Given the description of an element on the screen output the (x, y) to click on. 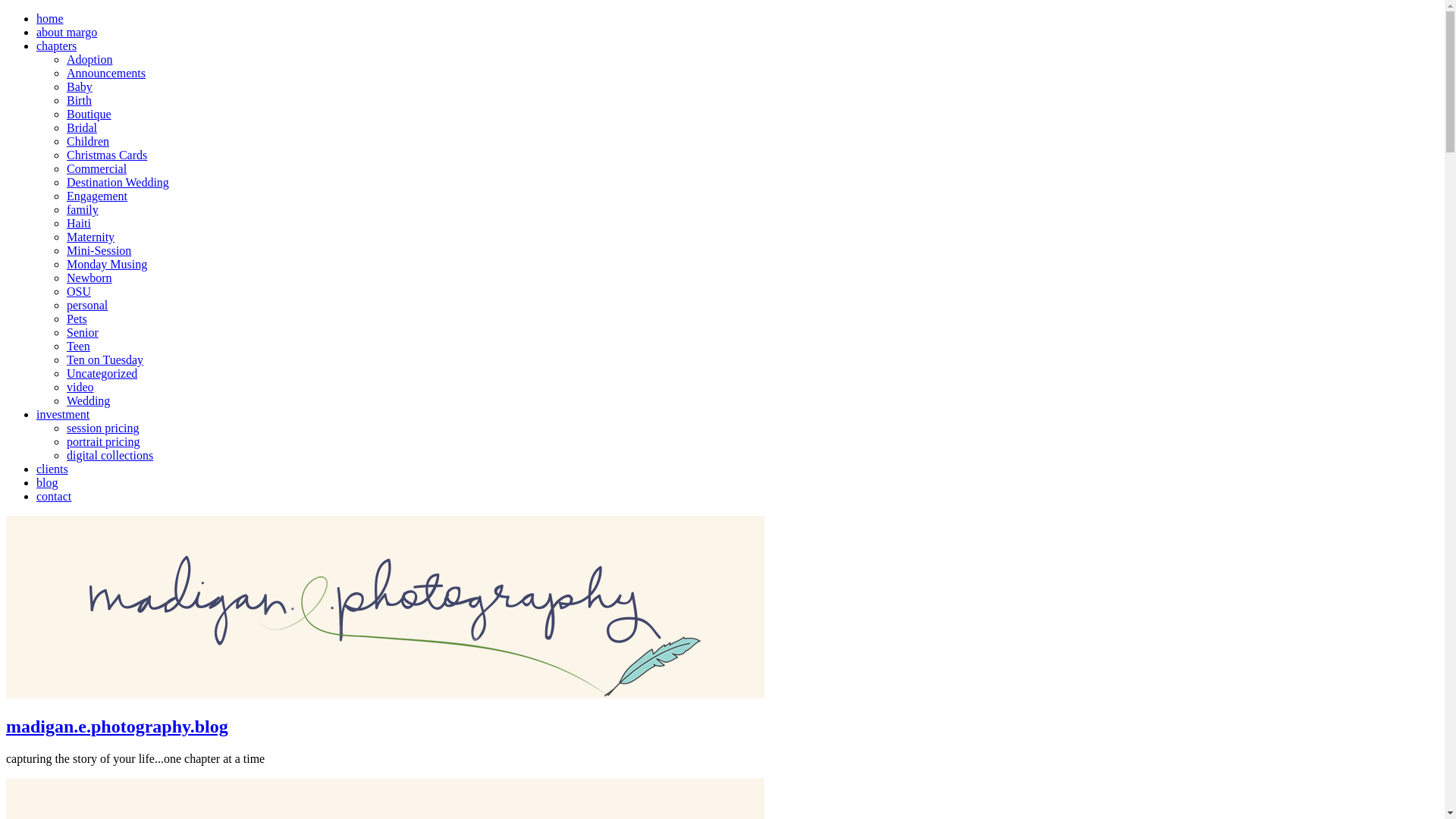
Birth (78, 100)
madigan.e.photography.blog (116, 726)
Commercial (96, 168)
Maternity (90, 236)
madigan.e.photography.blog (384, 694)
Announcements (105, 72)
about margo (66, 31)
portrait pricing (102, 440)
contact (53, 495)
clients (52, 468)
session pricing (102, 427)
Baby (79, 86)
OSU (78, 291)
family (82, 209)
Pets (76, 318)
